Given the description of an element on the screen output the (x, y) to click on. 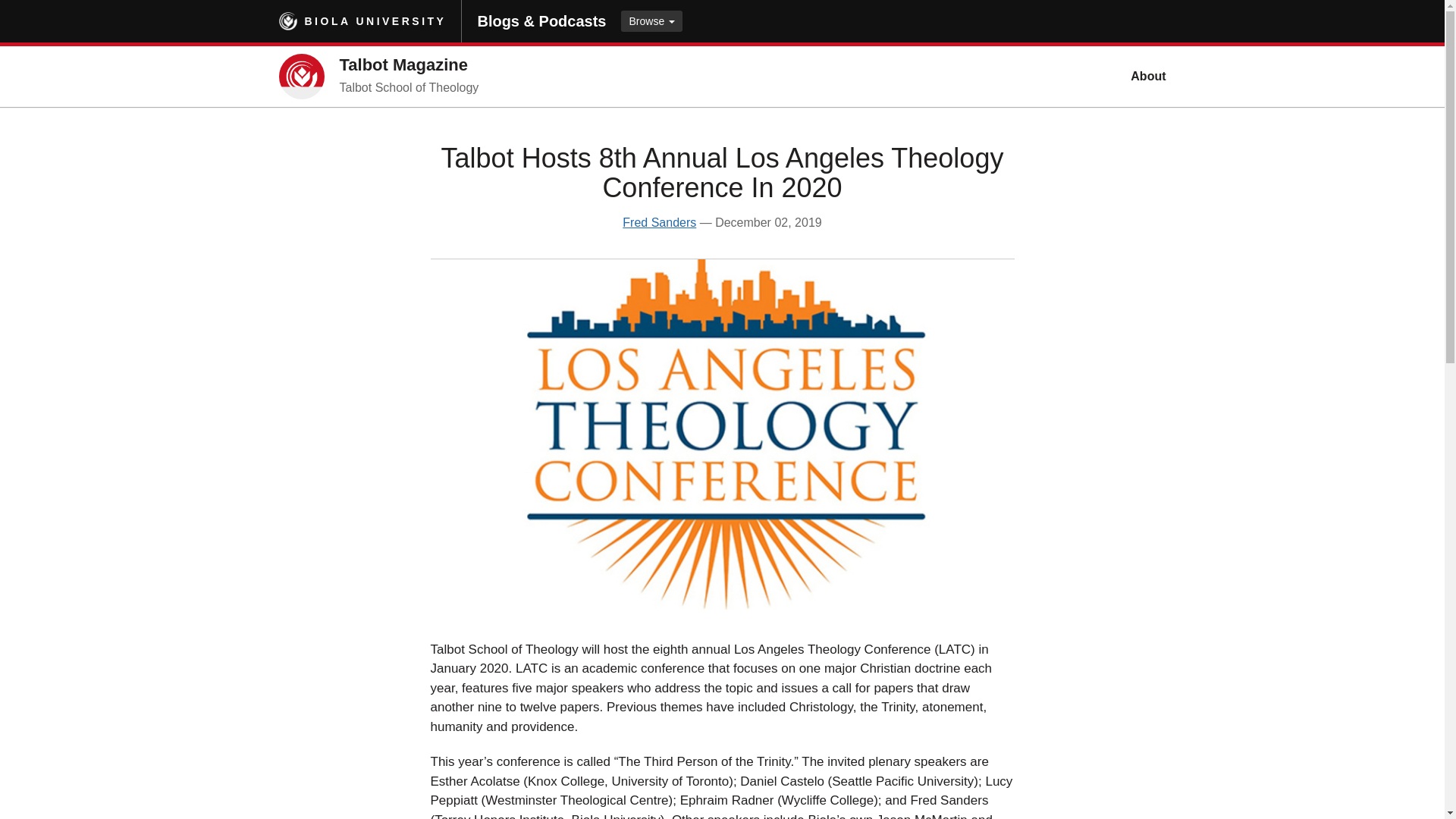
Browse (651, 20)
Talbot Magazine (403, 64)
Fred Sanders (659, 222)
BIOLA UNIVERSITY (375, 21)
